Given the description of an element on the screen output the (x, y) to click on. 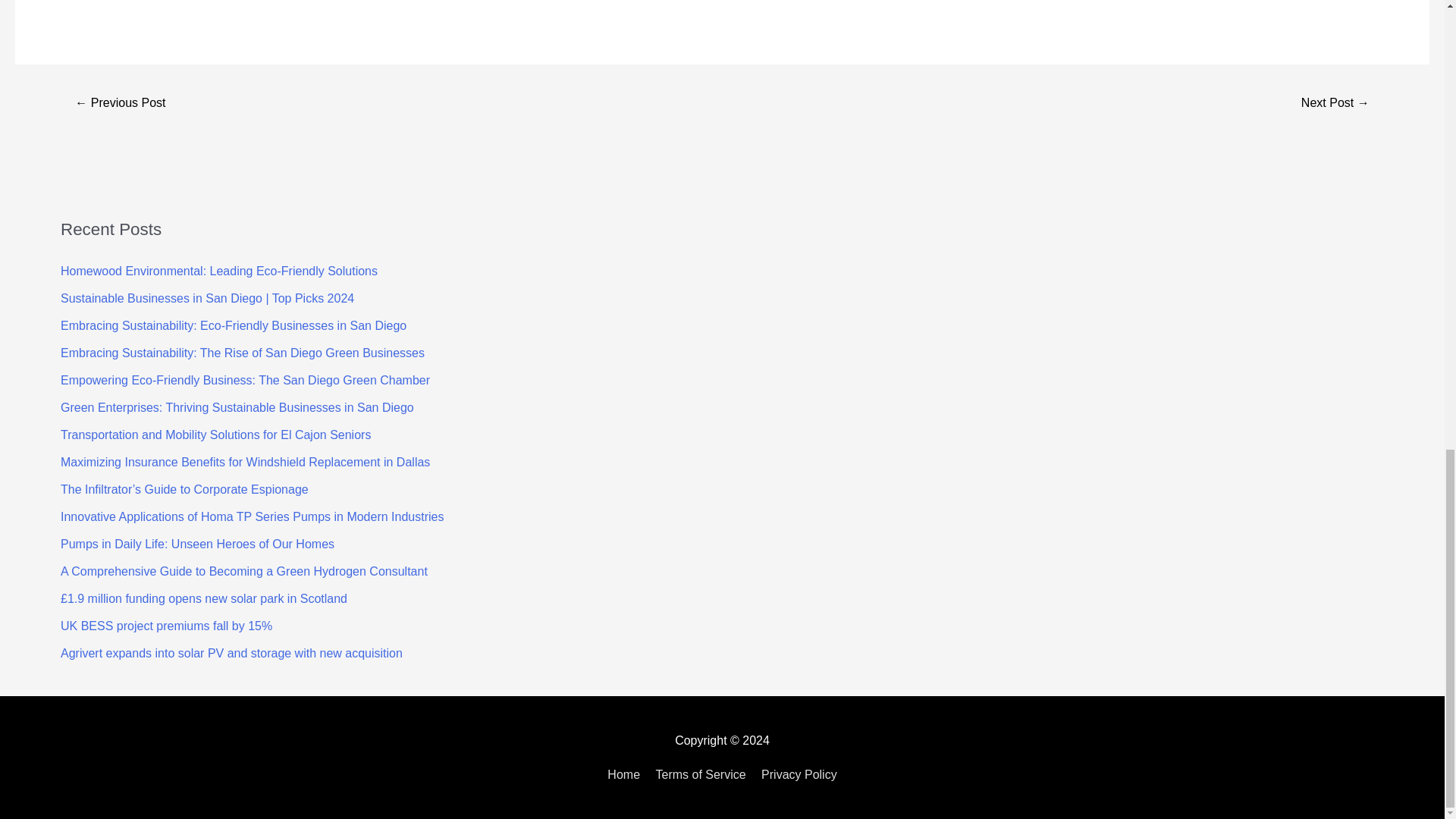
Pumps in Daily Life: Unseen Heroes of Our Homes (197, 543)
Terms of Service (700, 774)
Privacy Policy (796, 774)
Home (626, 774)
